Given the description of an element on the screen output the (x, y) to click on. 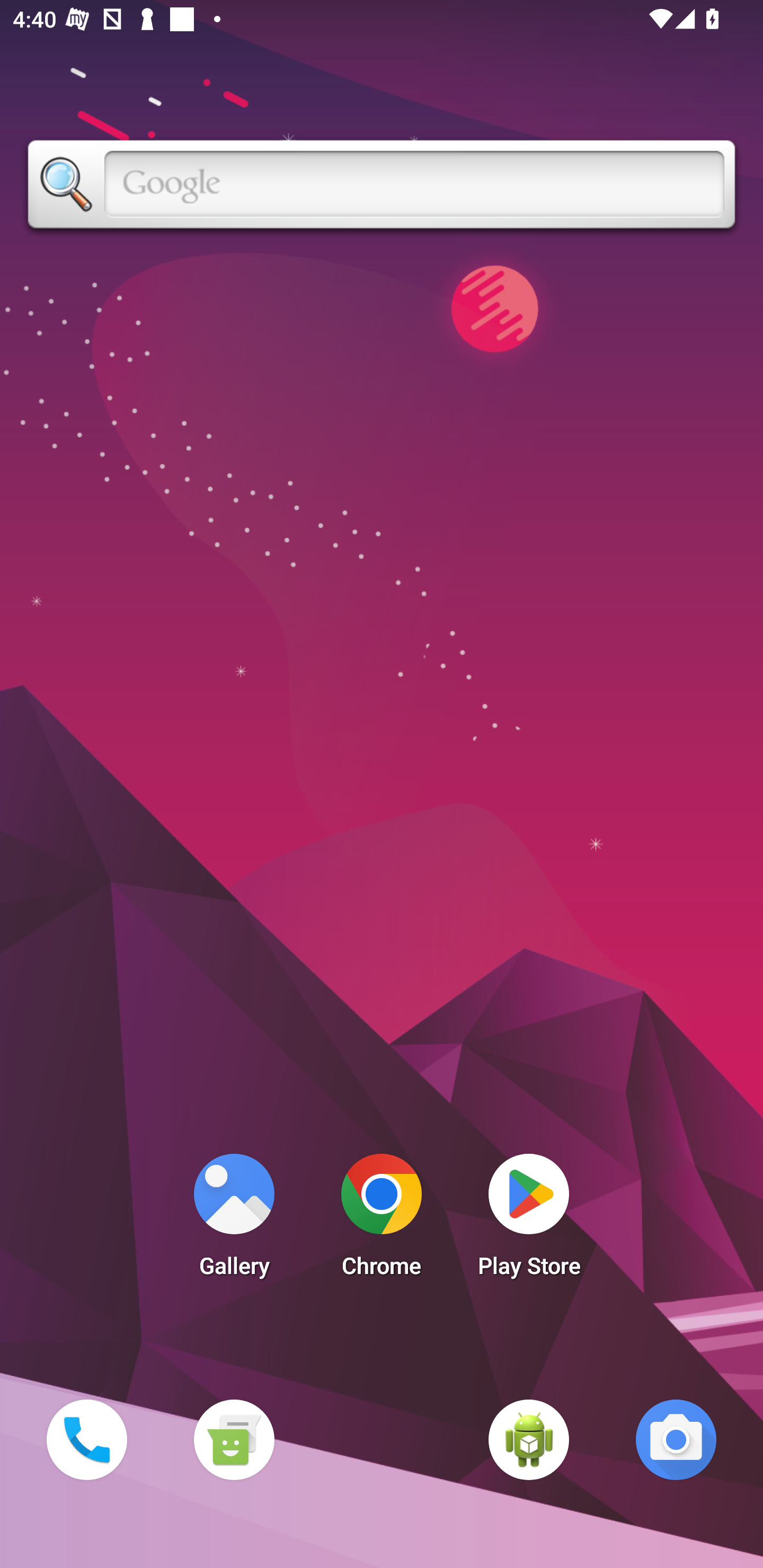
Gallery (233, 1220)
Chrome (381, 1220)
Play Store (528, 1220)
Phone (86, 1439)
Messaging (233, 1439)
WebView Browser Tester (528, 1439)
Camera (676, 1439)
